Given the description of an element on the screen output the (x, y) to click on. 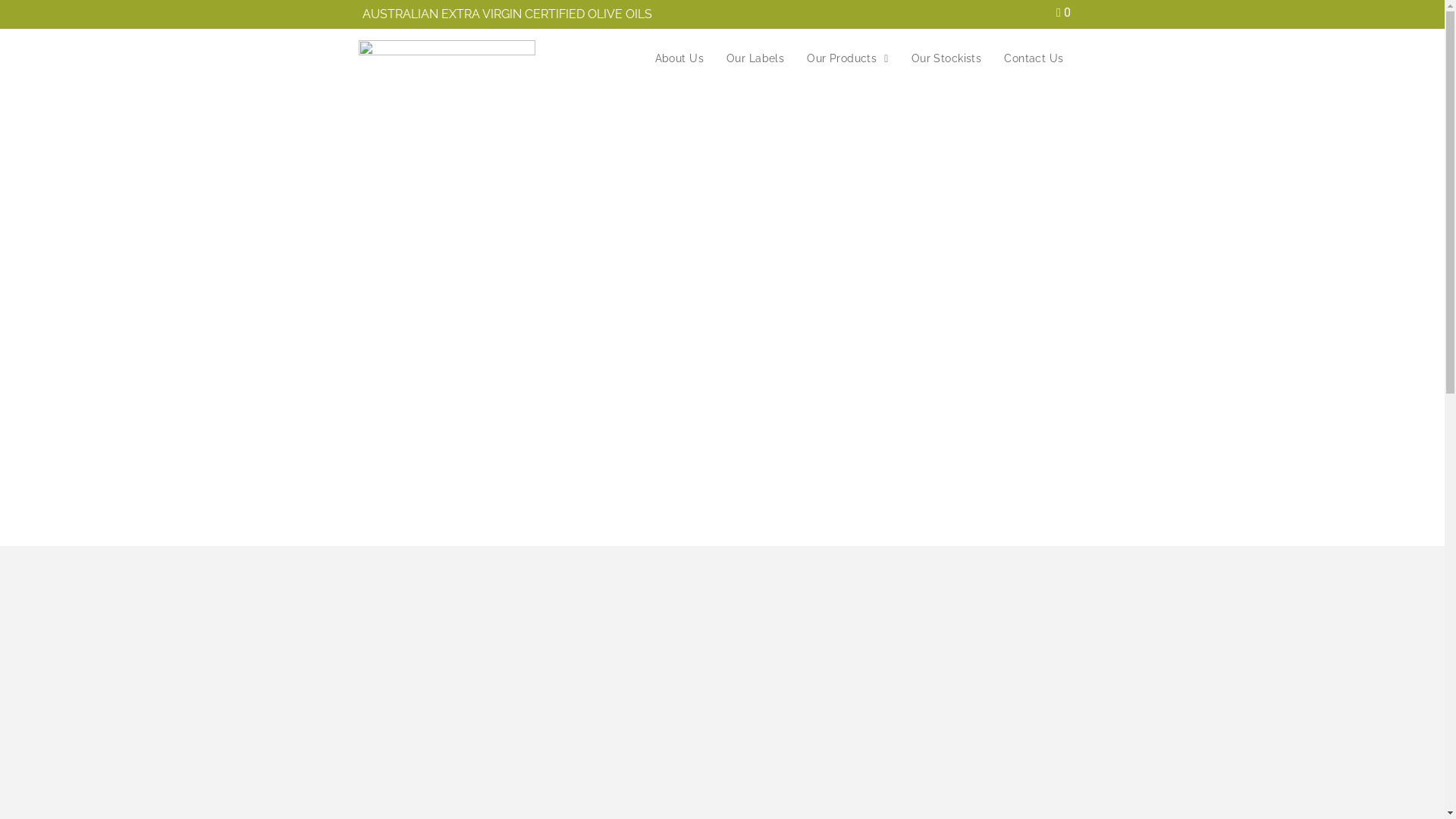
Our Stockists Element type: text (946, 58)
Our Products Element type: text (847, 58)
About Us Element type: text (679, 58)
Our Labels Element type: text (755, 58)
Contact Us Element type: text (1033, 58)
